Given the description of an element on the screen output the (x, y) to click on. 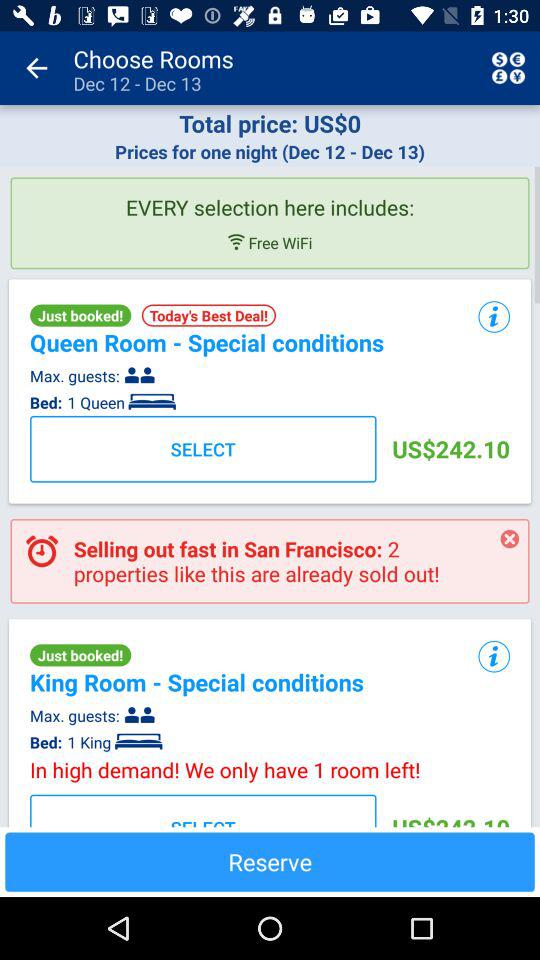
click app next to choose rooms dec app (36, 68)
